Given the description of an element on the screen output the (x, y) to click on. 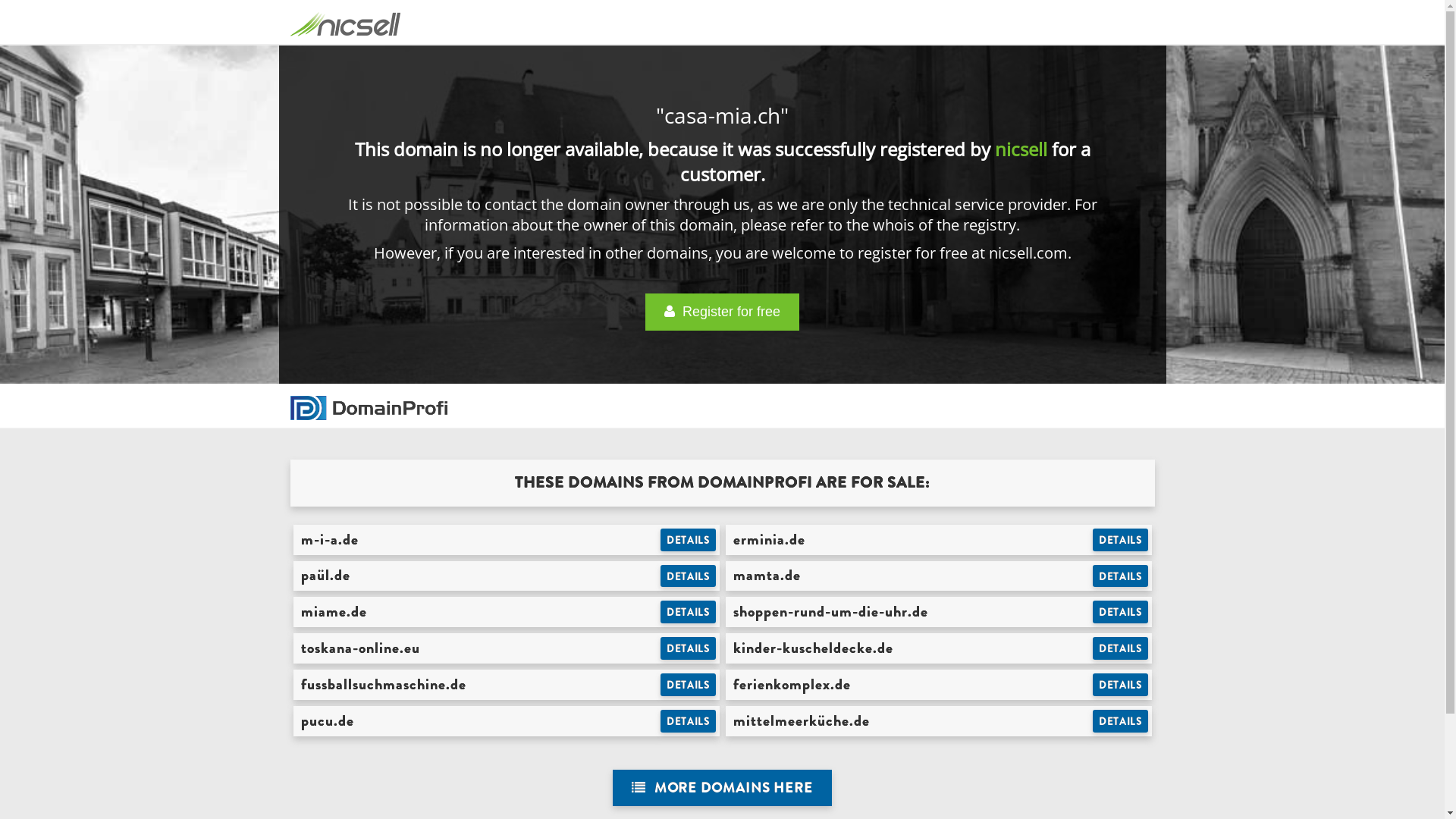
DETAILS Element type: text (1120, 648)
DETAILS Element type: text (1120, 539)
DETAILS Element type: text (1120, 684)
DETAILS Element type: text (687, 539)
  Register for free Element type: text (722, 311)
DETAILS Element type: text (687, 575)
DETAILS Element type: text (687, 720)
  MORE DOMAINS HERE Element type: text (721, 787)
nicsell Element type: text (1020, 148)
DETAILS Element type: text (1120, 611)
DETAILS Element type: text (687, 684)
DETAILS Element type: text (687, 611)
DETAILS Element type: text (1120, 575)
DETAILS Element type: text (687, 648)
DETAILS Element type: text (1120, 720)
